Given the description of an element on the screen output the (x, y) to click on. 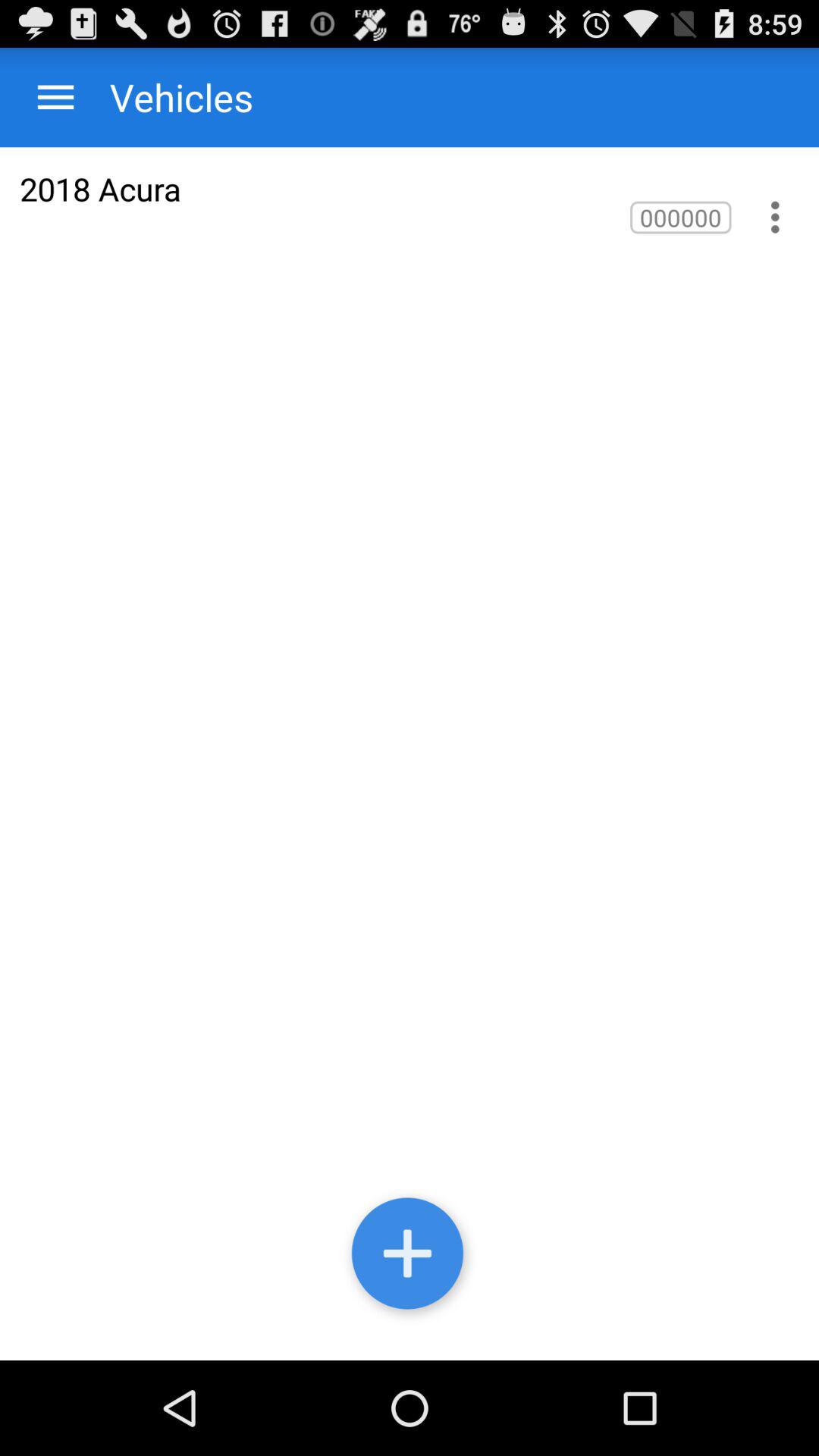
turn off item to the left of the vehicles (55, 97)
